Given the description of an element on the screen output the (x, y) to click on. 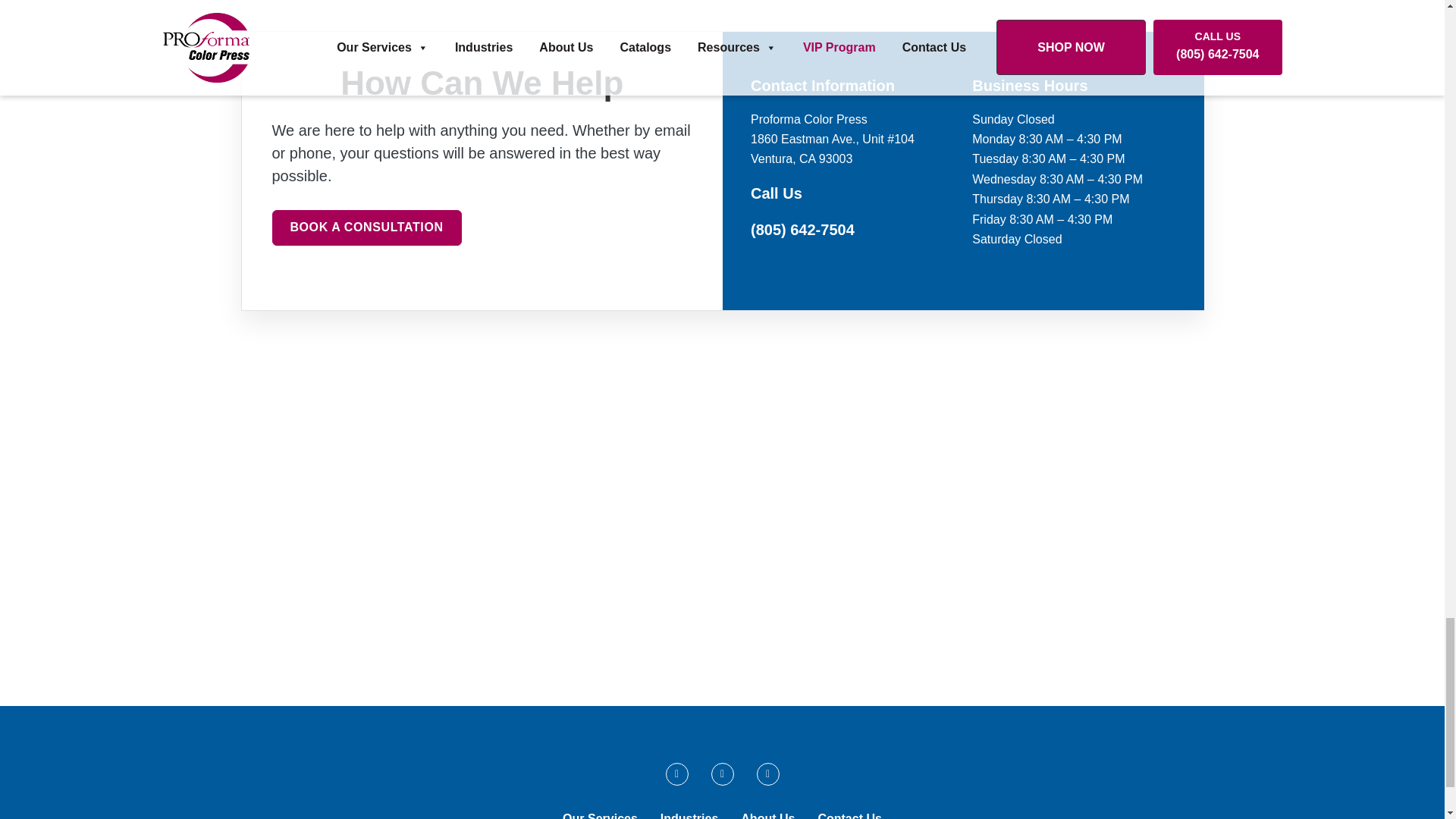
BOOK A CONSULTATION (365, 227)
